Given the description of an element on the screen output the (x, y) to click on. 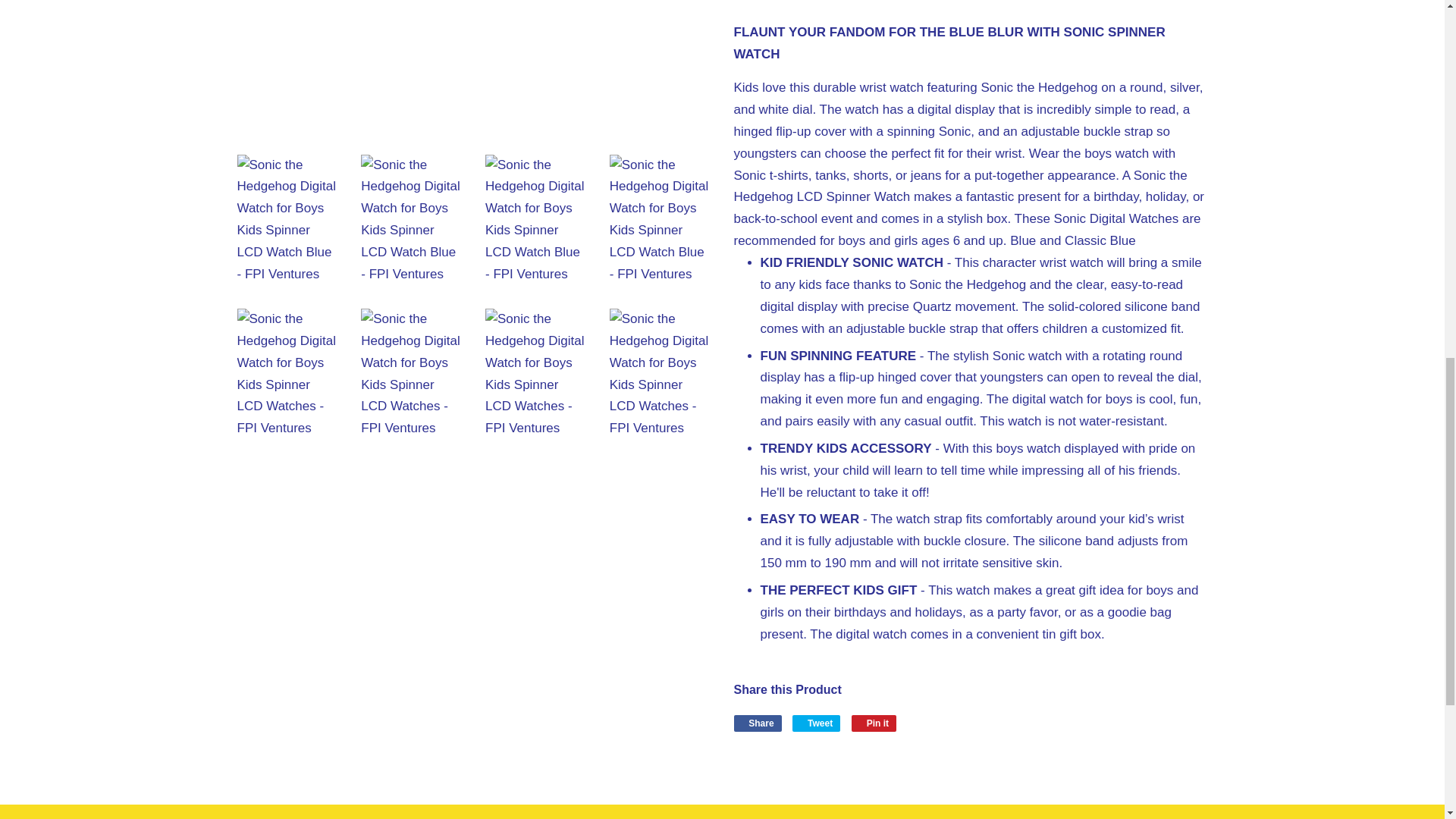
Pin on Pinterest (873, 723)
Share on Facebook (757, 723)
Tweet on Twitter (816, 723)
